Given the description of an element on the screen output the (x, y) to click on. 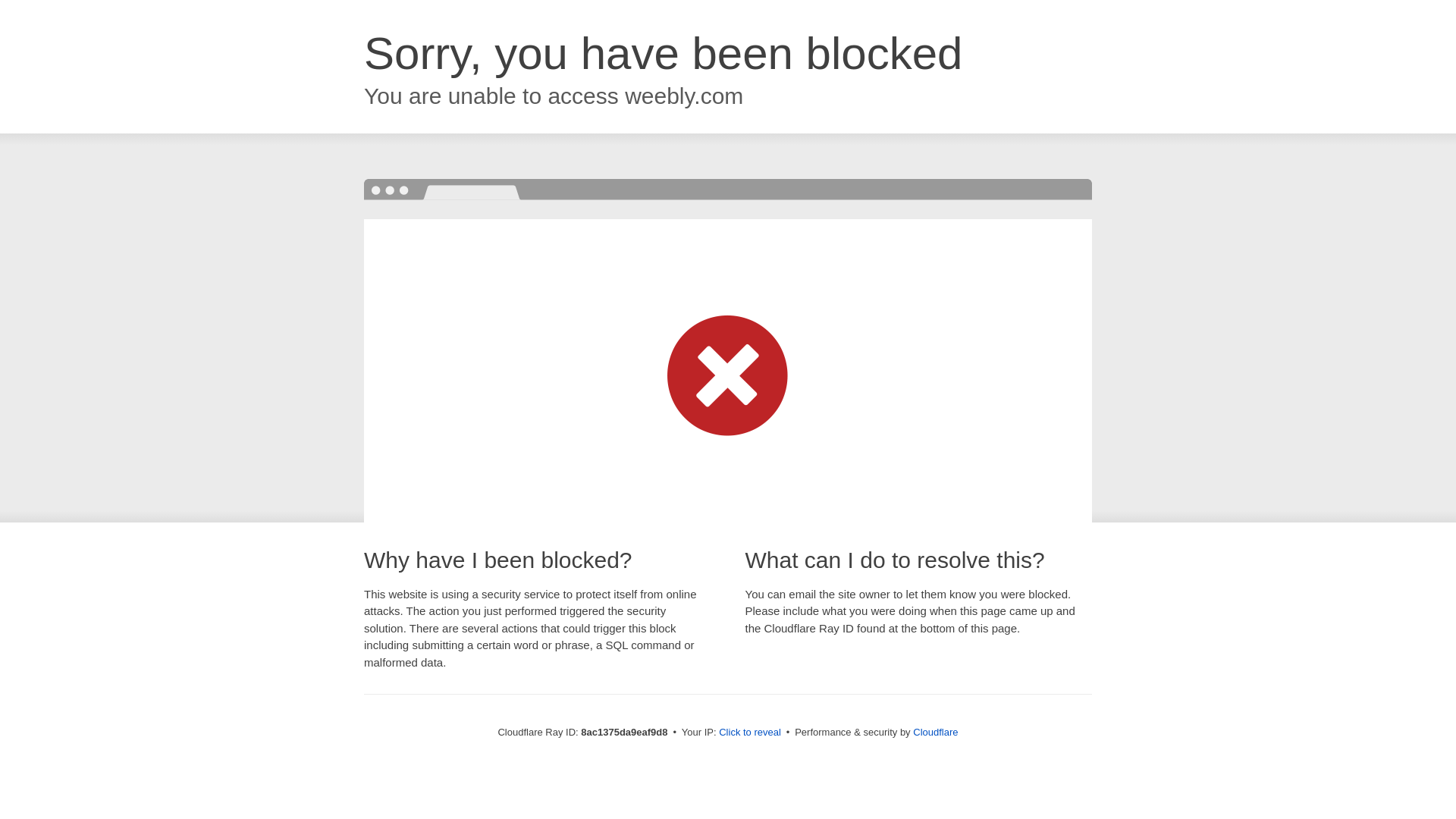
Click to reveal (749, 732)
Cloudflare (935, 731)
